Given the description of an element on the screen output the (x, y) to click on. 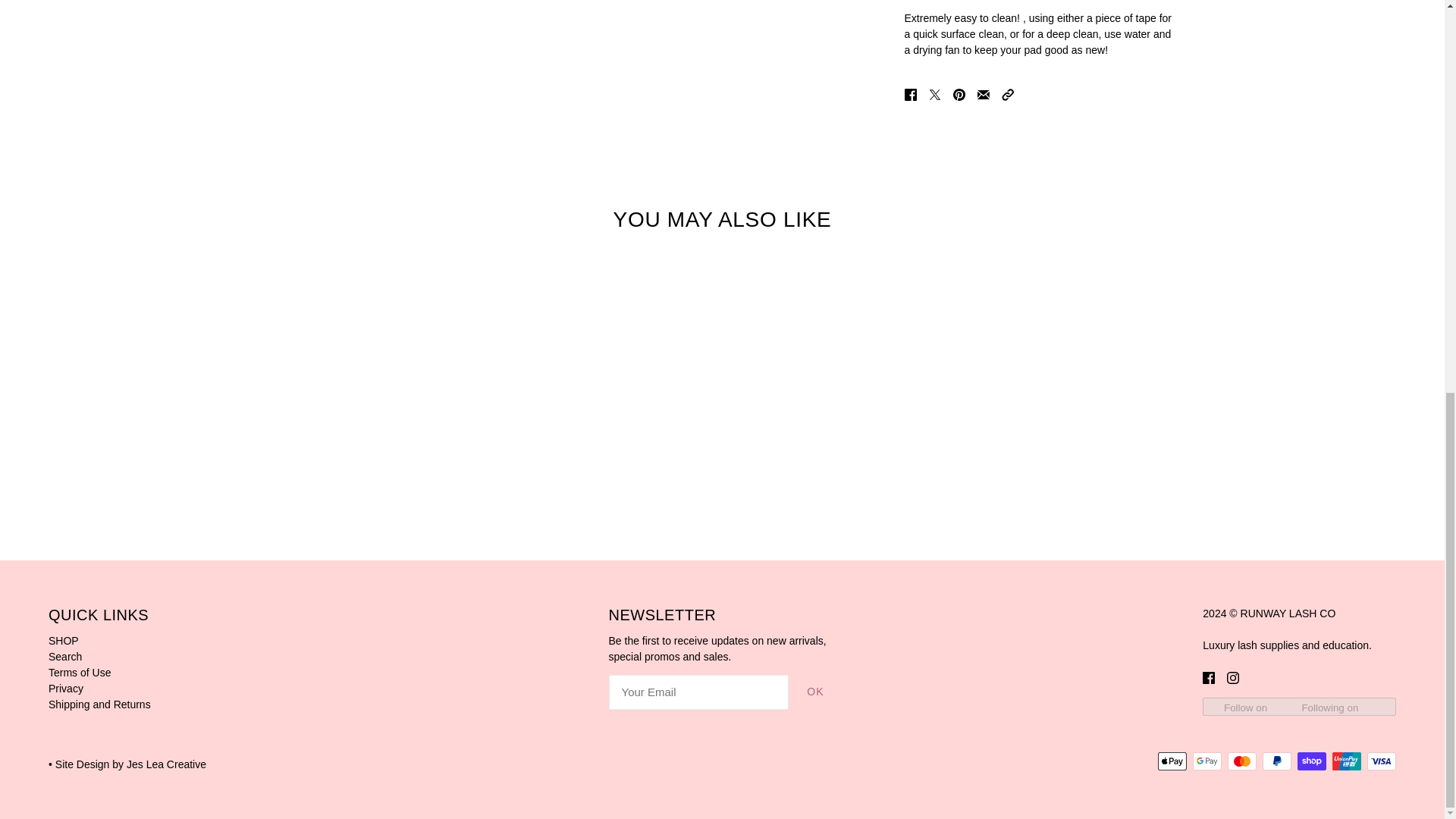
SHOP (63, 640)
Terms of Use (79, 672)
Shipping and Returns (99, 704)
Privacy (65, 688)
